Given the description of an element on the screen output the (x, y) to click on. 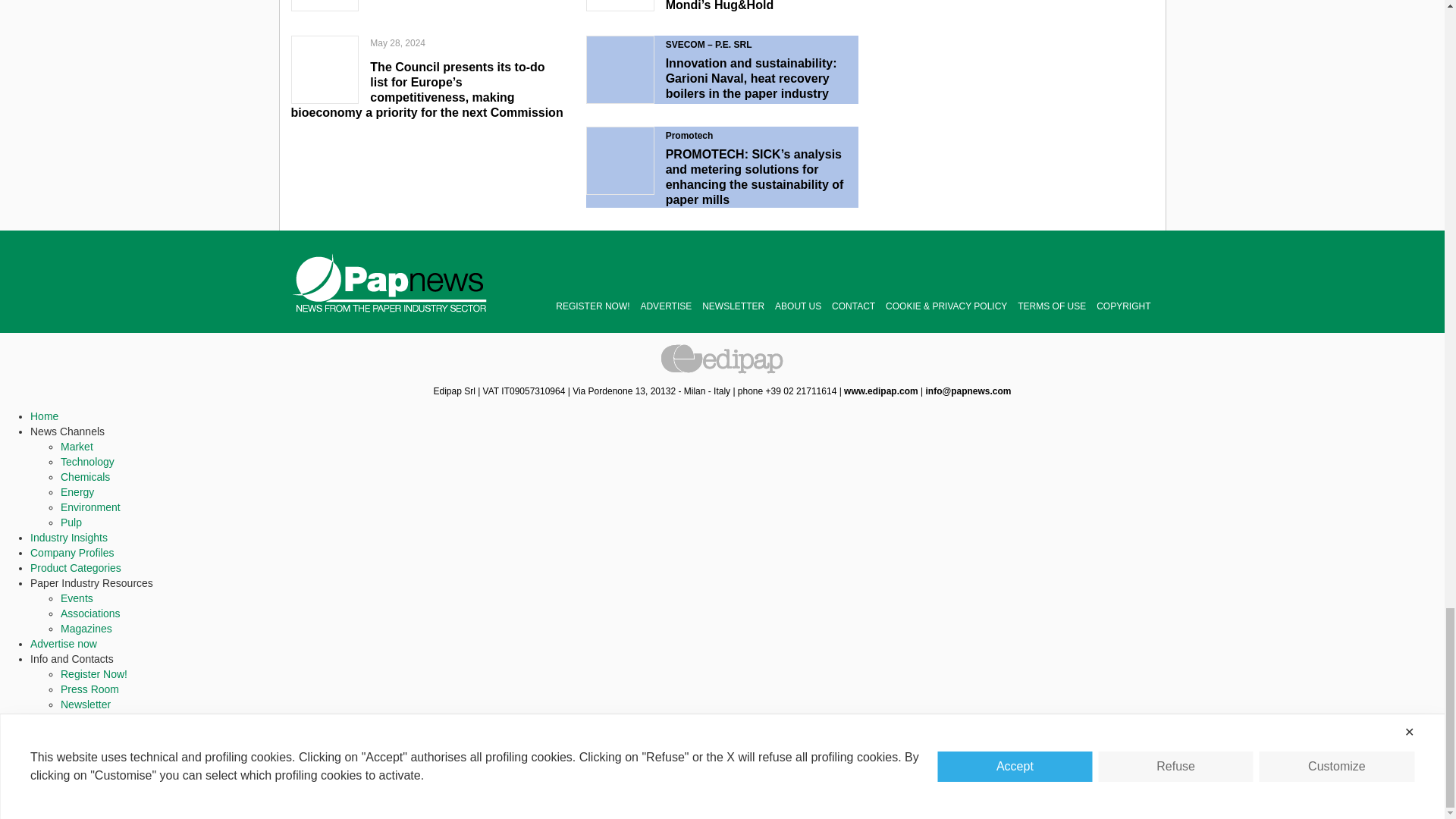
back to home page (389, 282)
visit Edipap website (881, 390)
